Given the description of an element on the screen output the (x, y) to click on. 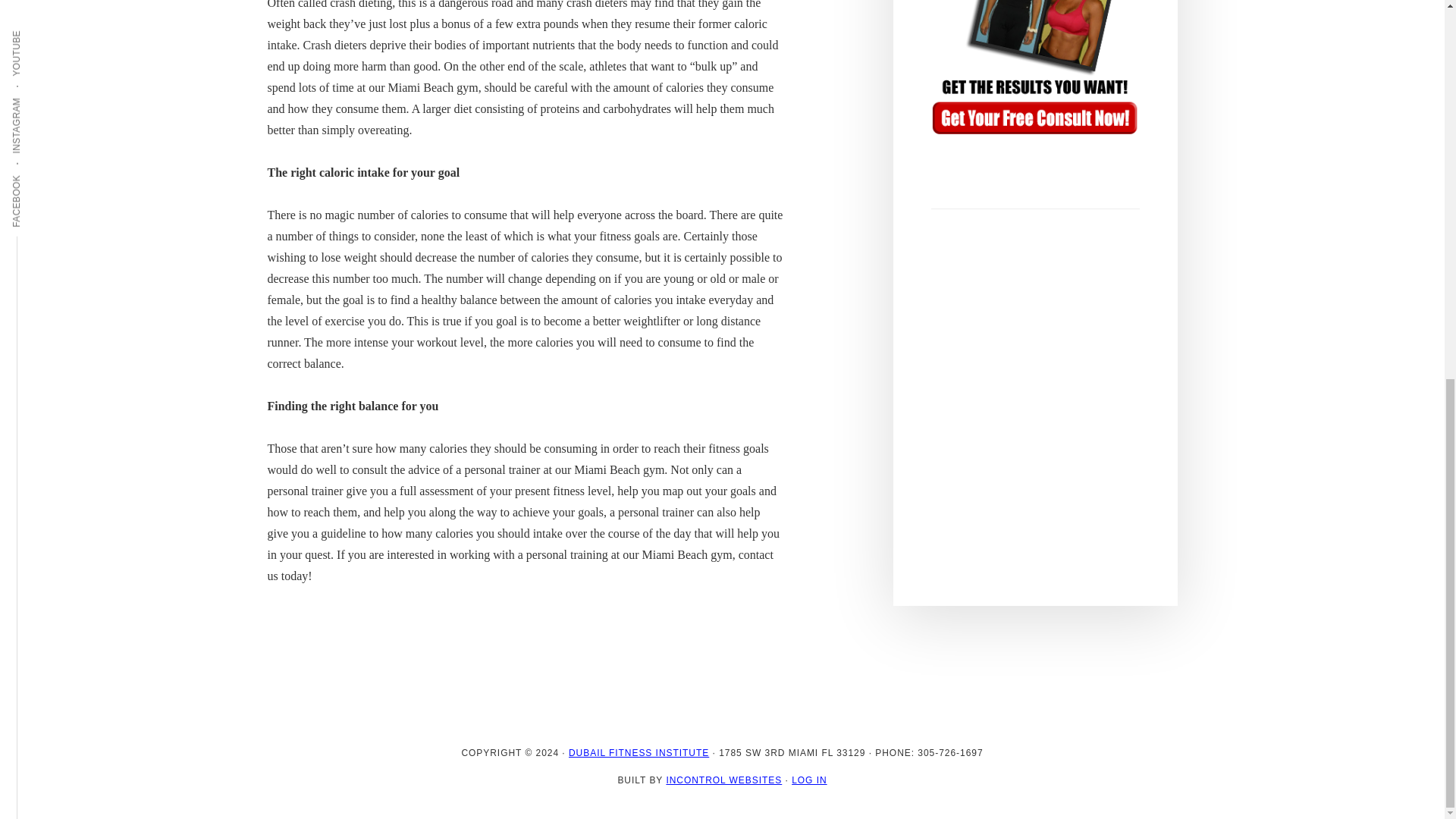
LOG IN (809, 779)
DUBAIL FITNESS INSTITUTE (639, 752)
INCONTROL WEBSITES (723, 779)
